Given the description of an element on the screen output the (x, y) to click on. 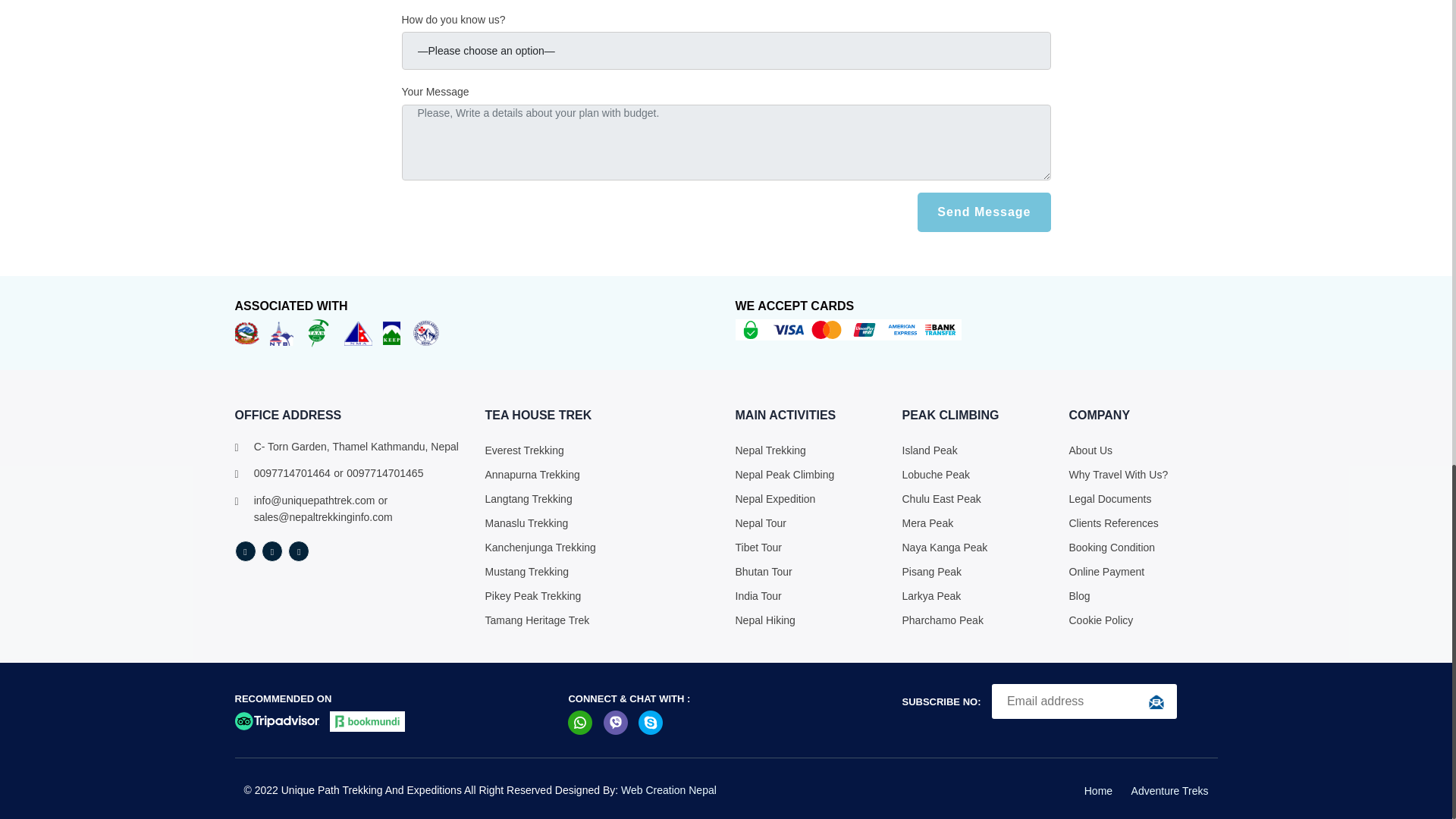
Kathmandu Environmental Education Project (391, 332)
Nepal Mountaineering Association (357, 332)
Nepal Government (246, 332)
Send Message (983, 211)
Trekking Agencies' Association of Nepal (318, 332)
Nepal Tourism Board (281, 332)
Himalayan Rescue Association Nepal (426, 332)
